Given the description of an element on the screen output the (x, y) to click on. 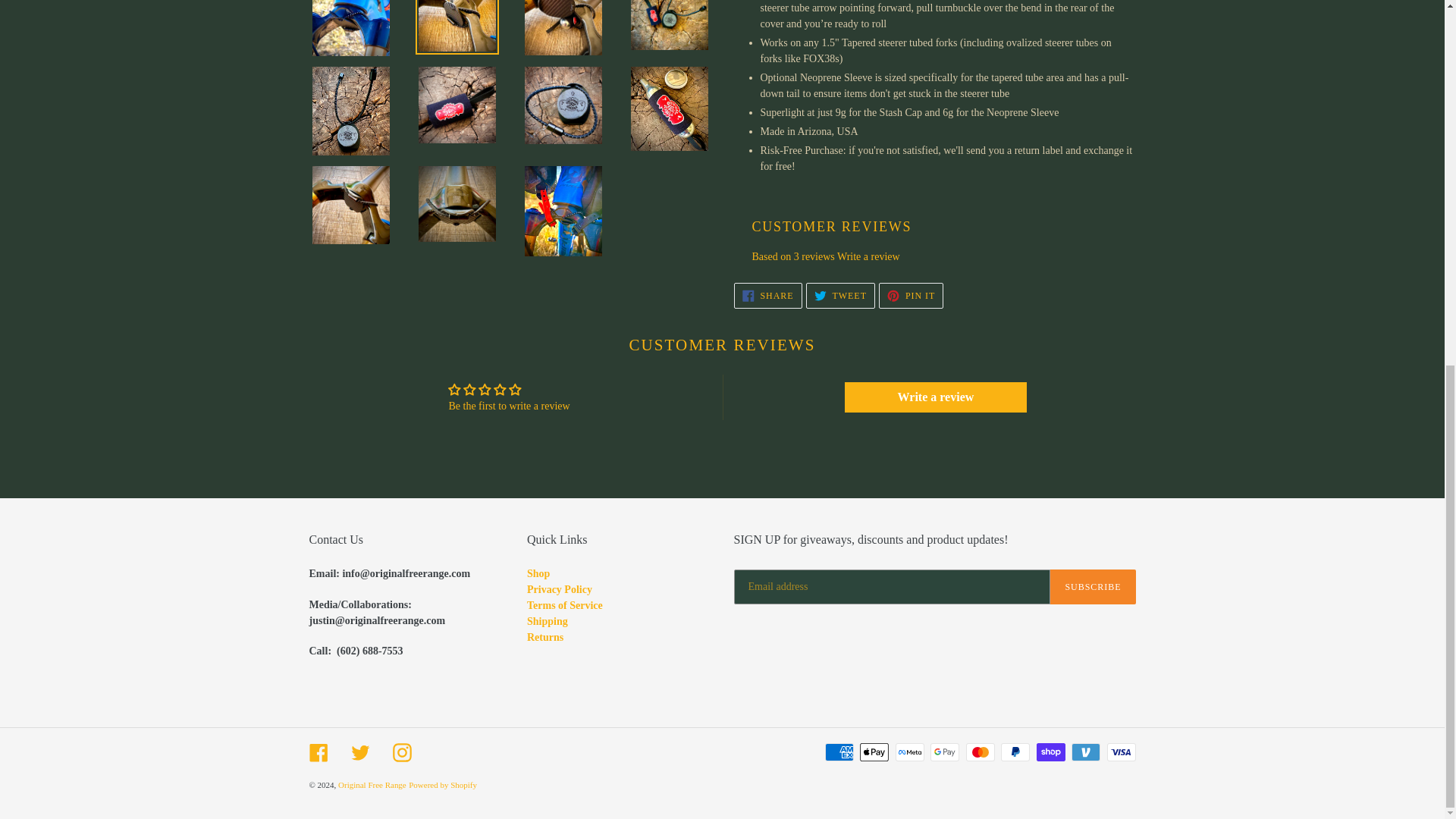
Returns (545, 636)
Write a review (935, 397)
Privacy Policy (911, 295)
Privacy Policy (559, 589)
Write a review (559, 589)
Shipping Policy (868, 256)
Shop (547, 621)
All Collections (840, 295)
Terms of Service (538, 573)
Shipping (538, 573)
Terms of Service (564, 604)
Refund Policy (547, 621)
